Given the description of an element on the screen output the (x, y) to click on. 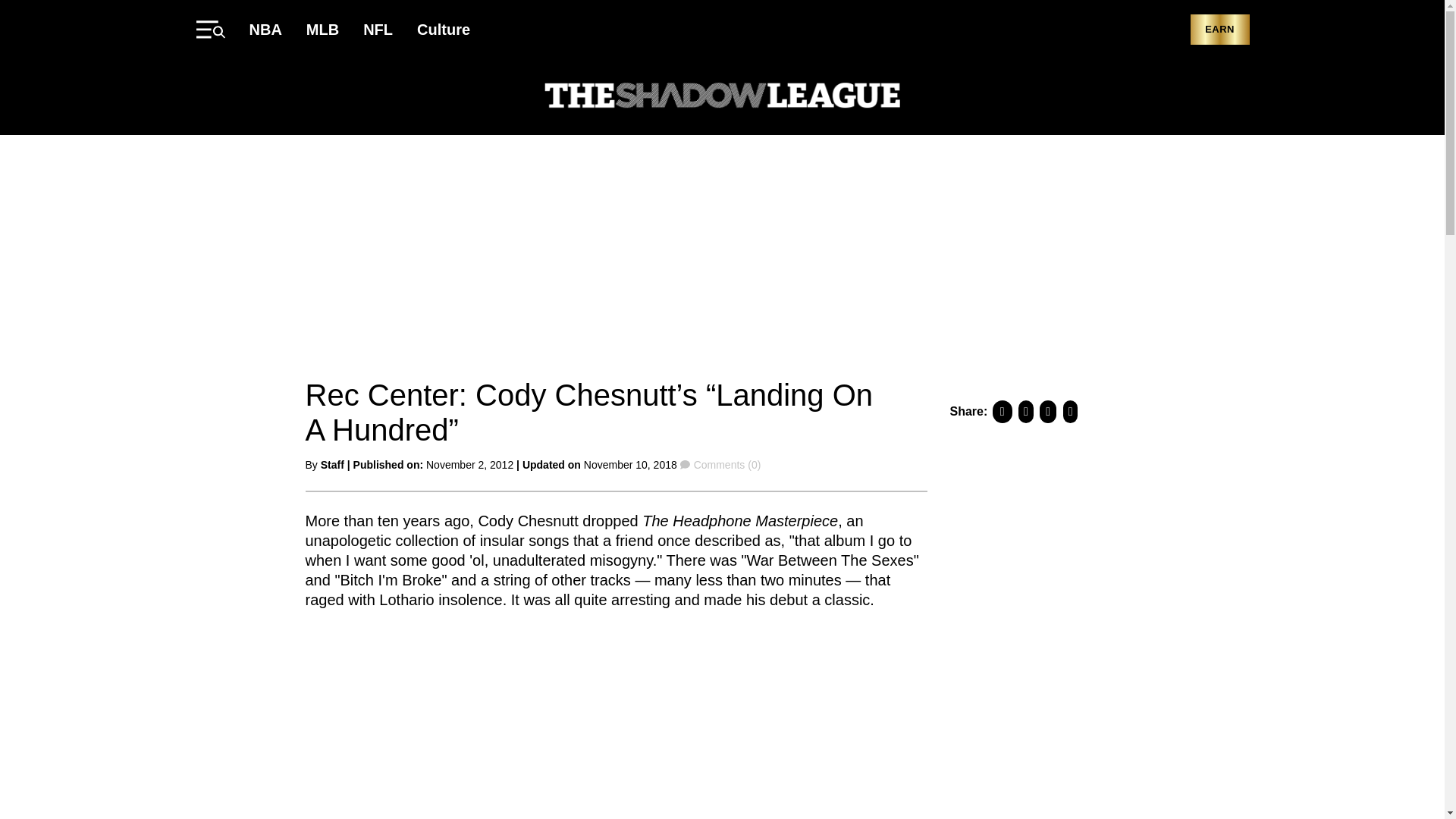
NFL (377, 29)
The Shadow League (721, 96)
EARN (1220, 29)
Culture (443, 29)
MLB (322, 29)
NBA (264, 29)
Staff (331, 464)
